Given the description of an element on the screen output the (x, y) to click on. 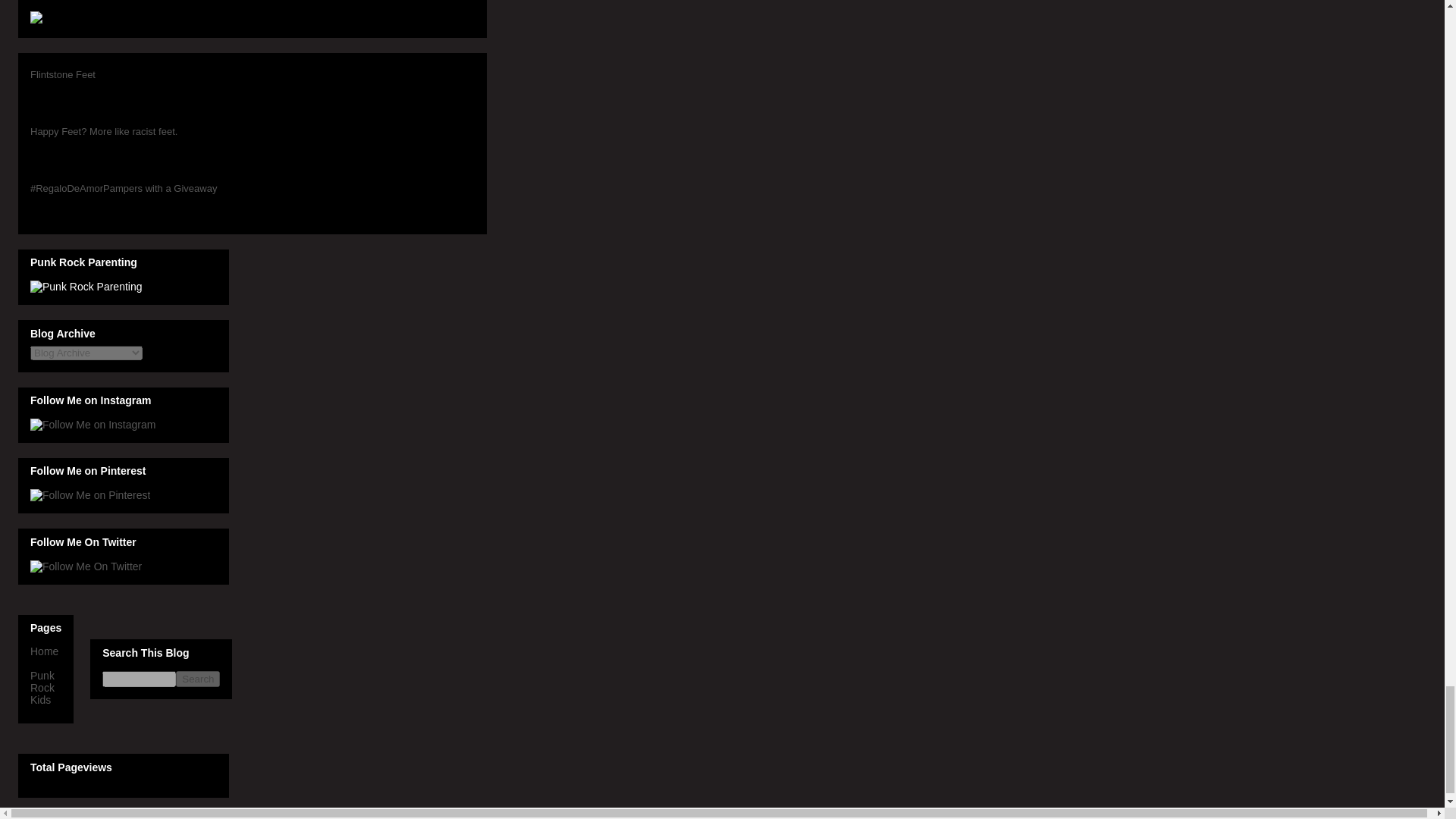
Search (197, 678)
Search (197, 678)
search (197, 678)
search (138, 678)
